Given the description of an element on the screen output the (x, y) to click on. 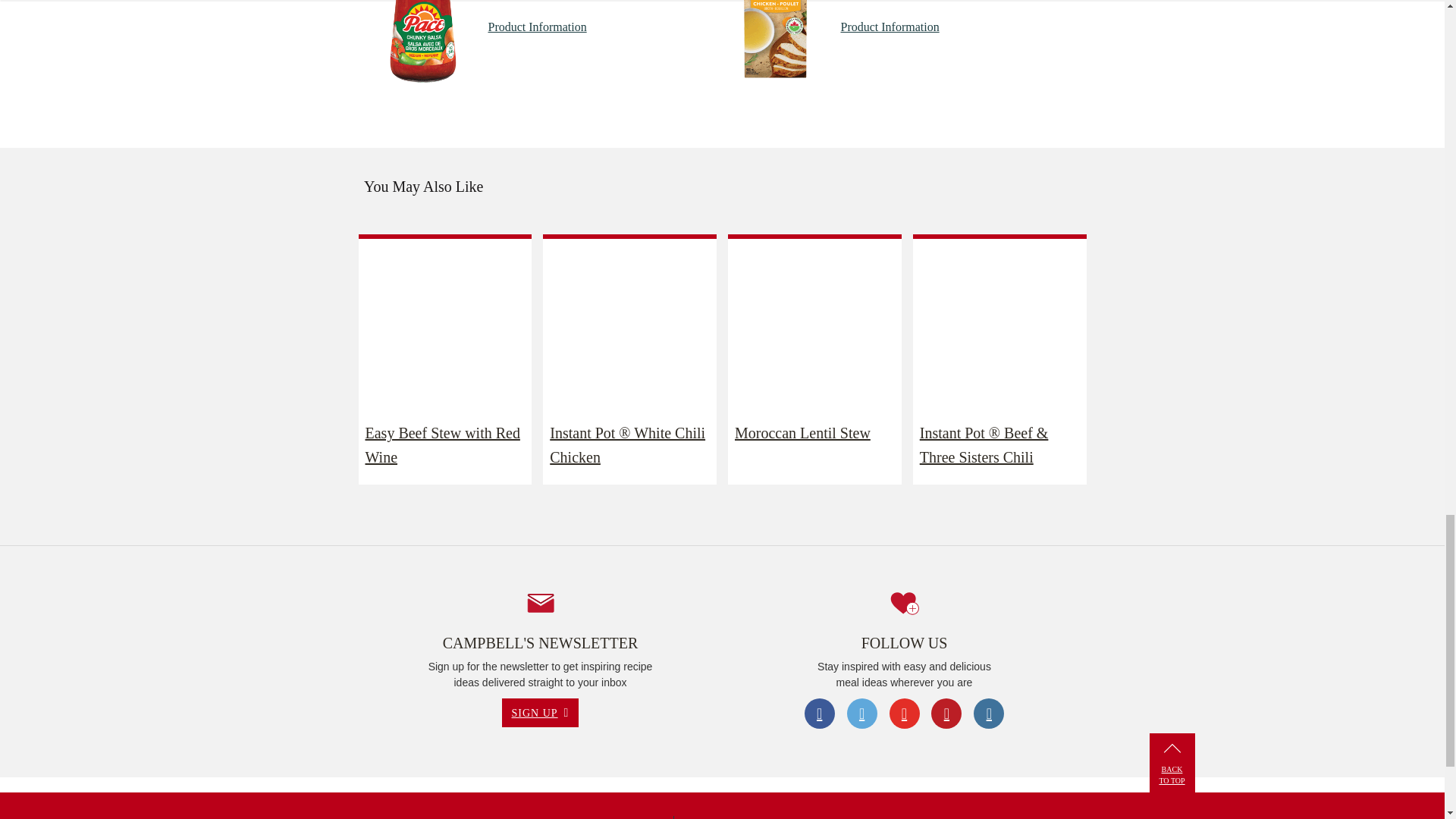
Product Information (889, 27)
Product Information (536, 27)
Easy Beef Stew with Red Wine (445, 444)
